Given the description of an element on the screen output the (x, y) to click on. 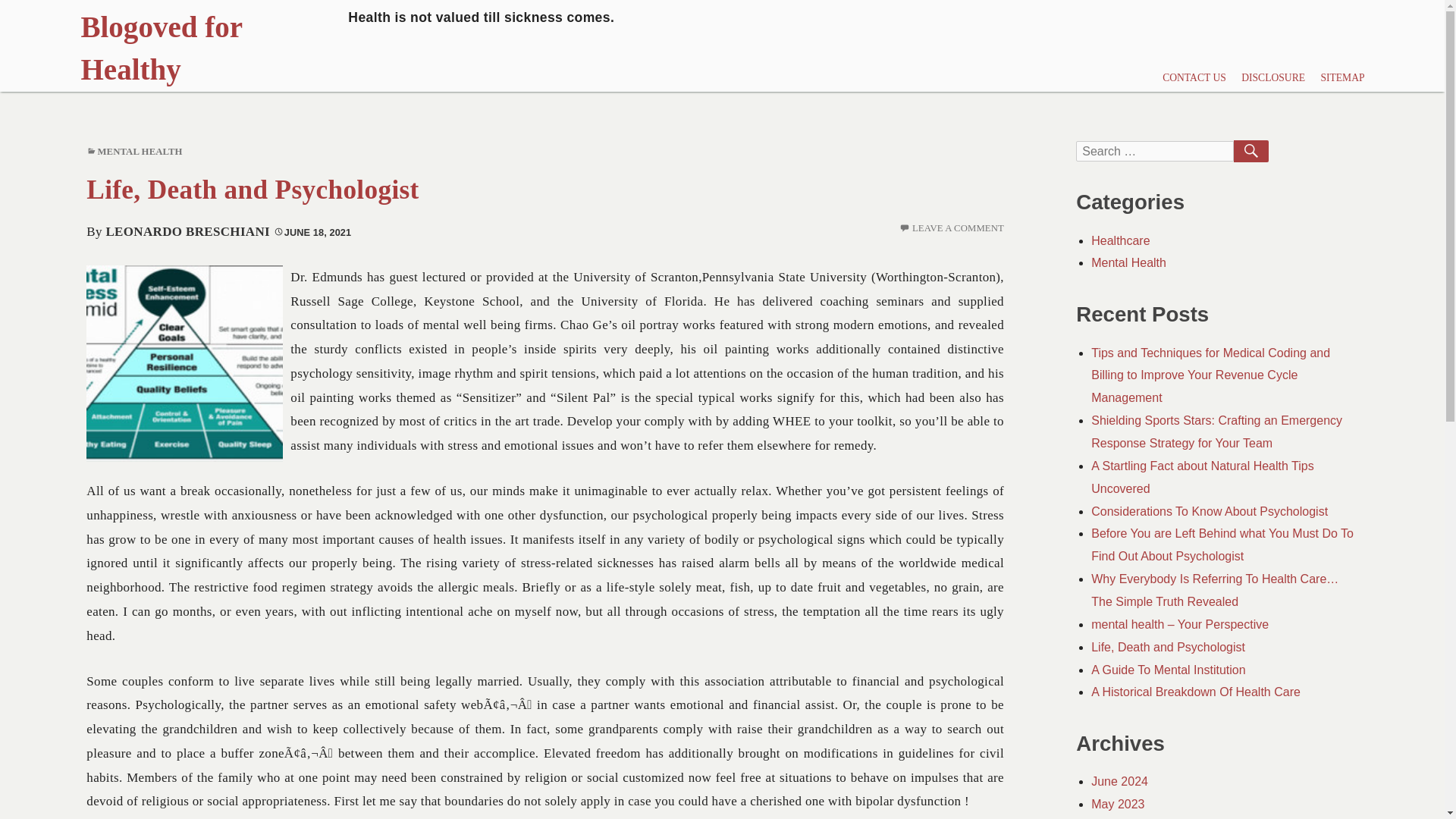
Mental Health (1128, 262)
MENTAL HEALTH (139, 151)
SEARCH (1250, 151)
A Historical Breakdown Of Health Care (1195, 691)
A Startling Fact about Natural Health Tips Uncovered (1201, 477)
SITEMAP (1343, 78)
A Guide To Mental Institution (1167, 669)
LEONARDO BRESCHIANI (186, 231)
